Given the description of an element on the screen output the (x, y) to click on. 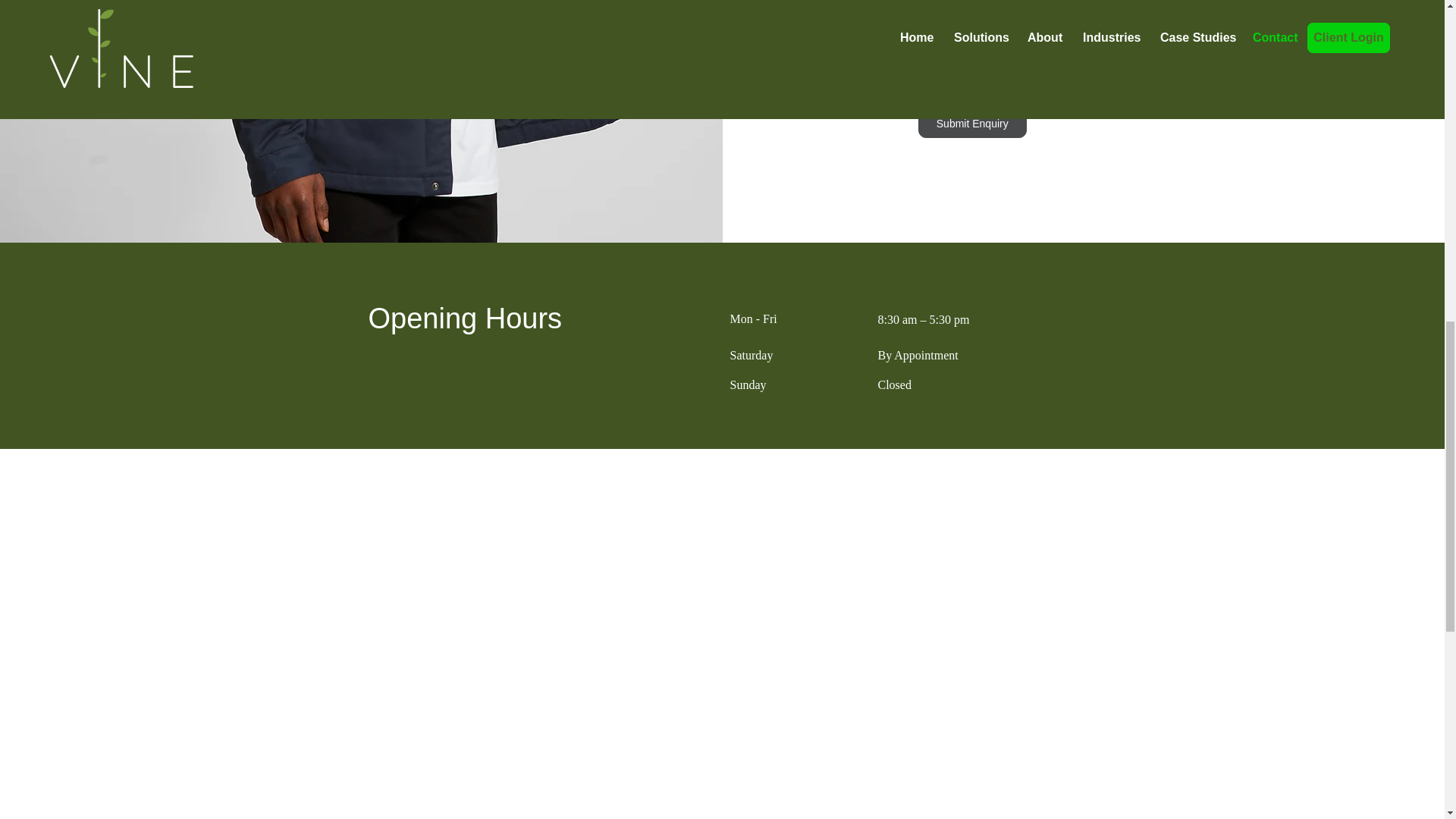
Submit Enquiry (972, 124)
